Given the description of an element on the screen output the (x, y) to click on. 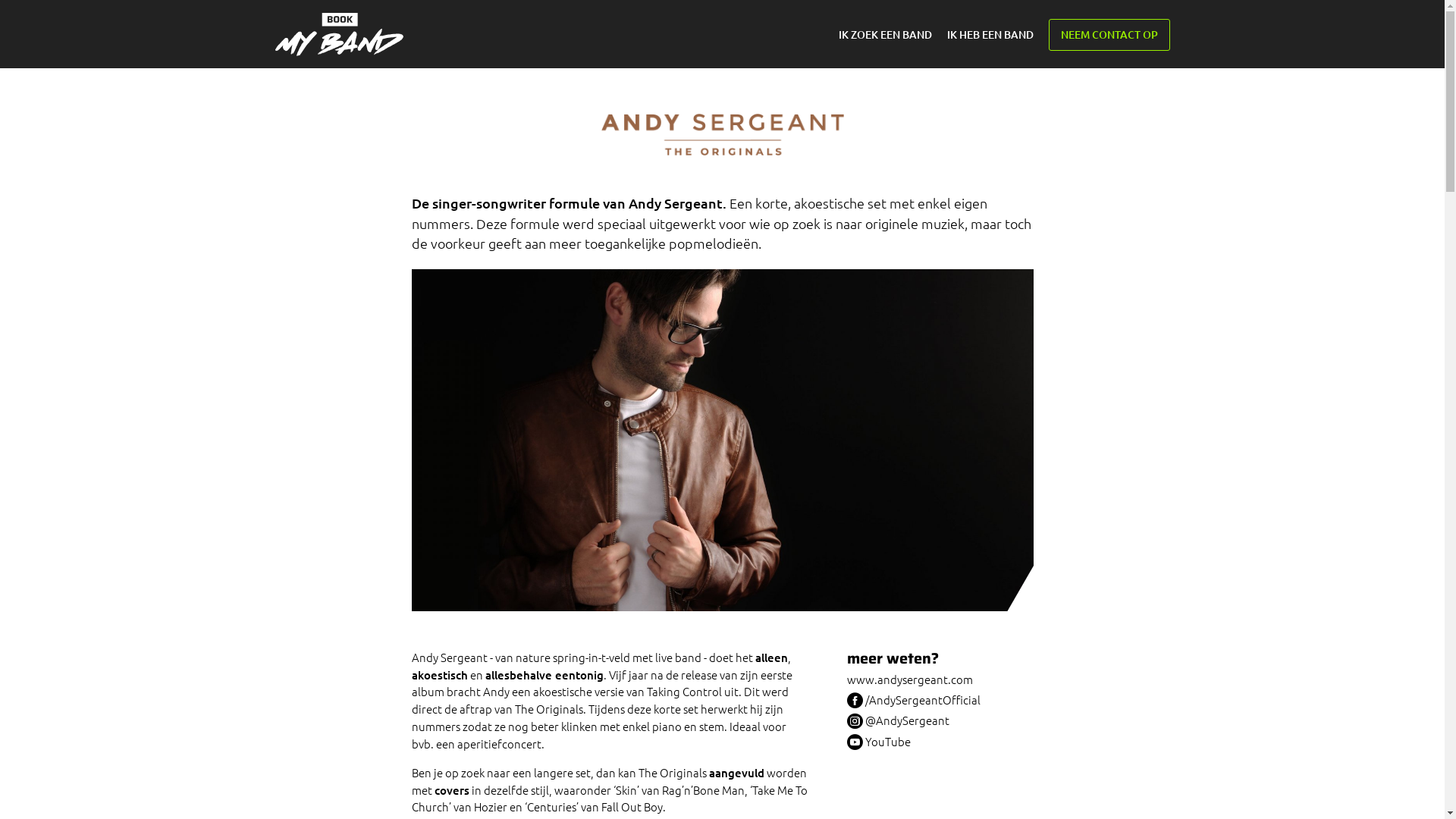
/AndySergeantOfficial Element type: text (939, 698)
NEEM CONTACT OP Element type: text (1108, 34)
Home Element type: hover (338, 34)
IK ZOEK EEN BAND Element type: text (885, 34)
@AndySergeant Element type: text (939, 719)
IK HEB EEN BAND Element type: text (993, 34)
www.andysergeant.com Element type: text (939, 679)
YouTube Element type: text (939, 740)
